Given the description of an element on the screen output the (x, y) to click on. 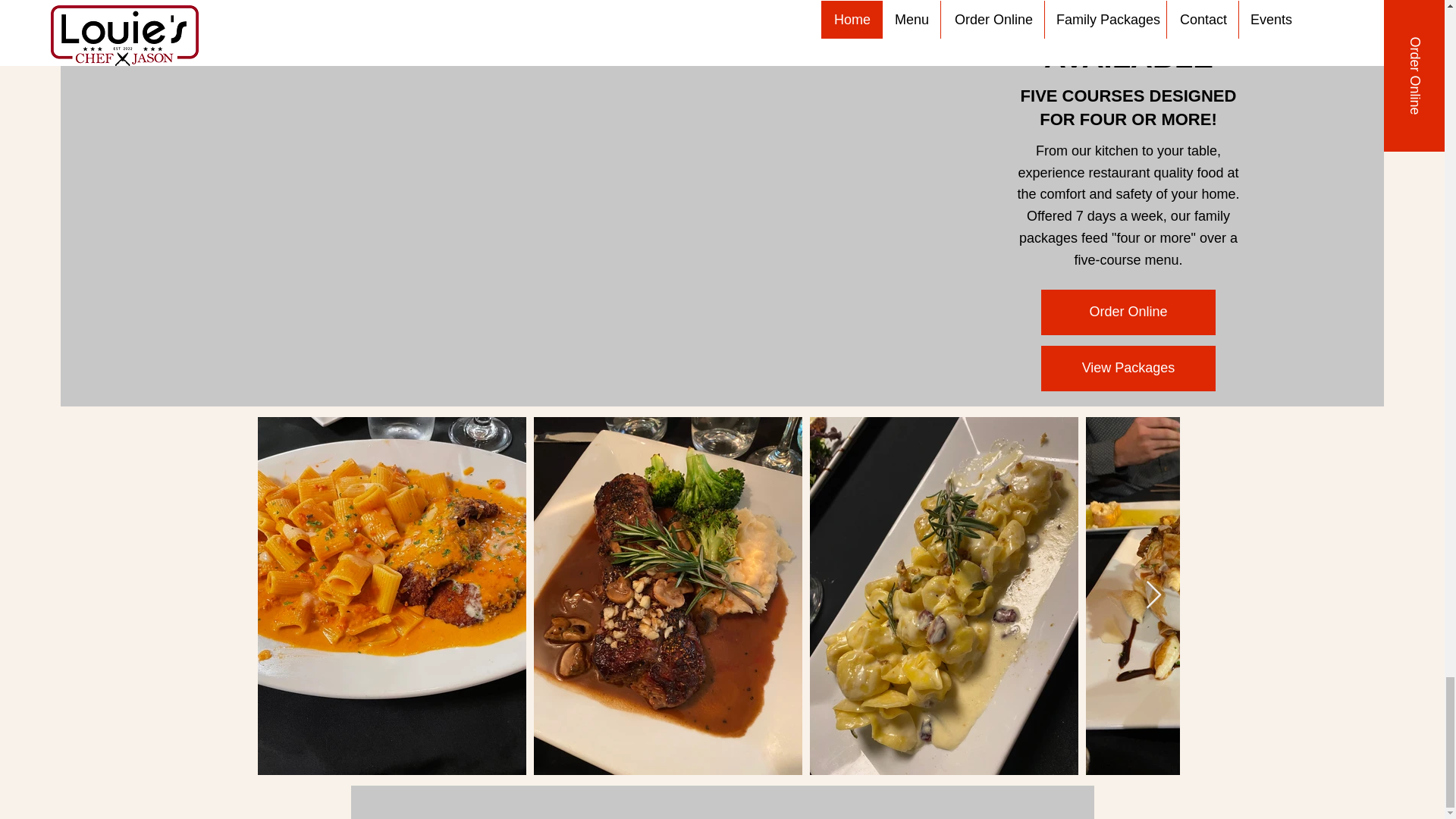
Order Online (1128, 311)
View Packages (1128, 368)
